Given the description of an element on the screen output the (x, y) to click on. 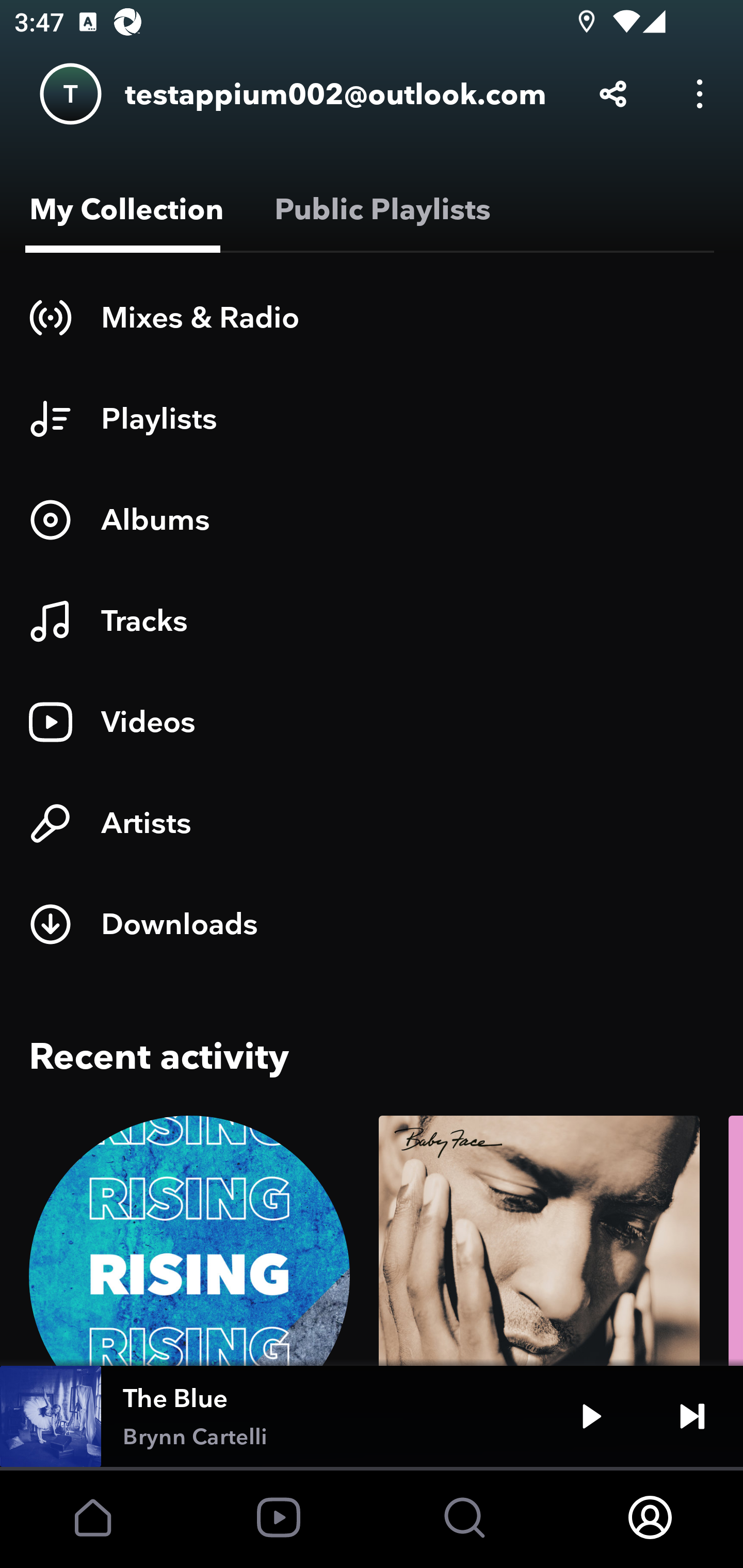
Share (612, 93)
Options (699, 93)
Public Playlists (378, 209)
Mixes & Radio (371, 317)
Playlists (371, 418)
Albums (371, 519)
Tracks (371, 620)
Videos (371, 722)
Artists (371, 823)
Downloads (371, 924)
The Blue Brynn Cartelli Play (371, 1416)
Play (590, 1416)
